Given the description of an element on the screen output the (x, y) to click on. 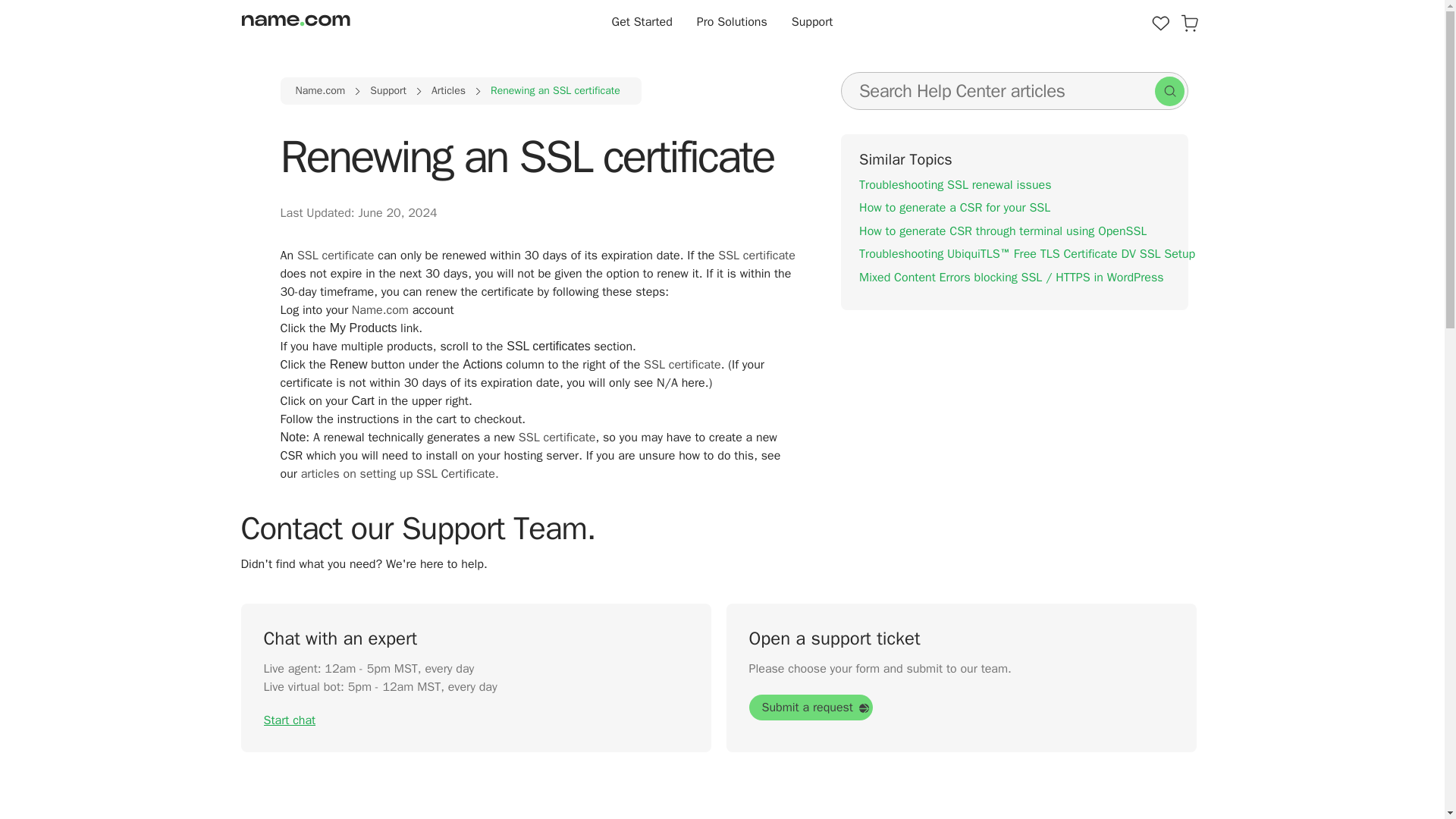
articles on setting up SSL Certificate. (400, 473)
Renewing an SSL certificate (555, 90)
Submit a request (810, 707)
SSL certificate (556, 437)
Start chat (289, 720)
Cart (1189, 22)
Support (387, 90)
Name.com (320, 90)
Products (1160, 22)
Support (387, 90)
Name.com (320, 90)
SSL certificate (335, 255)
Troubleshooting SSL renewal issues (955, 184)
Articles (447, 90)
Name.com (380, 309)
